Given the description of an element on the screen output the (x, y) to click on. 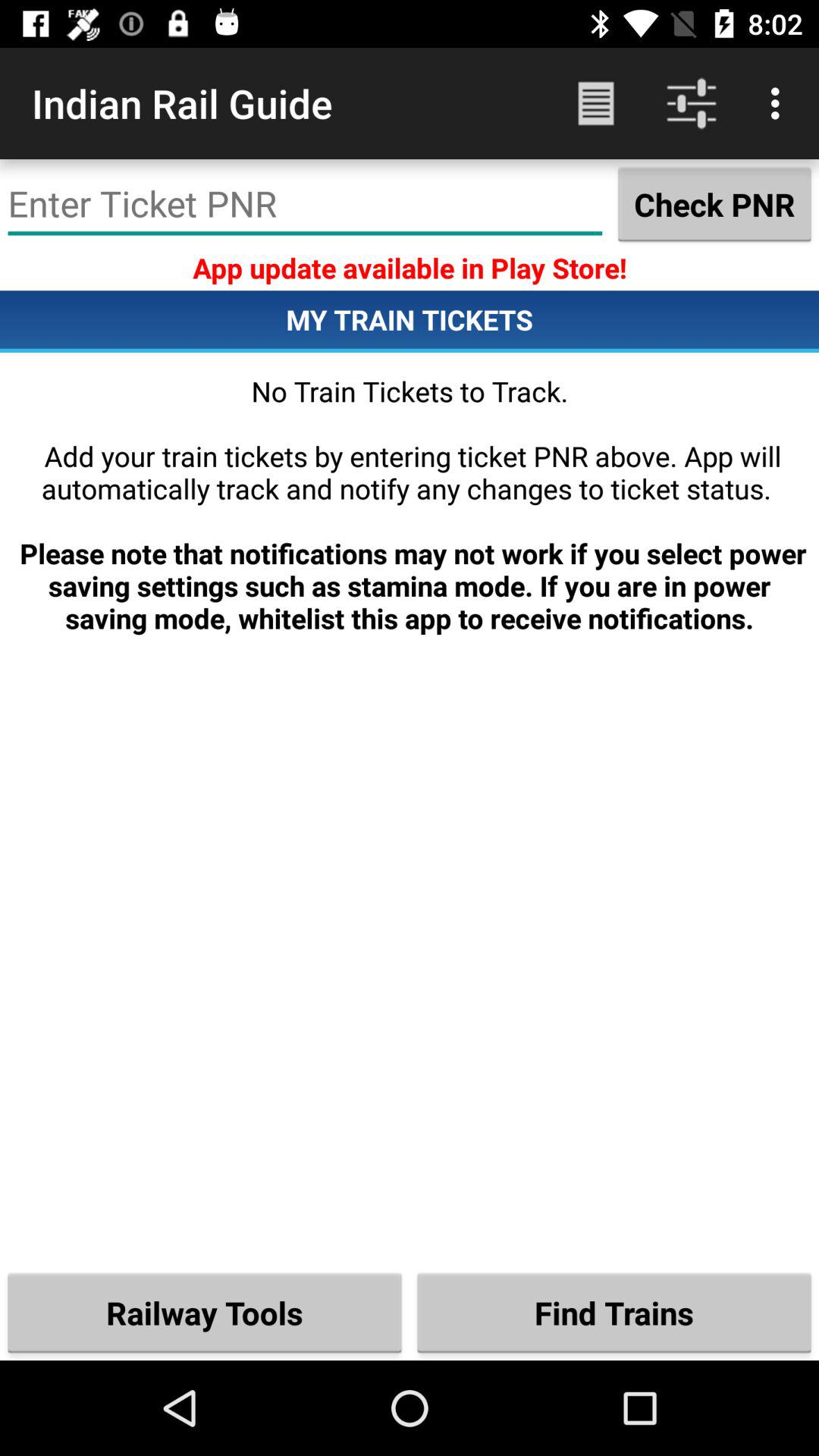
turn on the item to the right of railway tools icon (614, 1312)
